Given the description of an element on the screen output the (x, y) to click on. 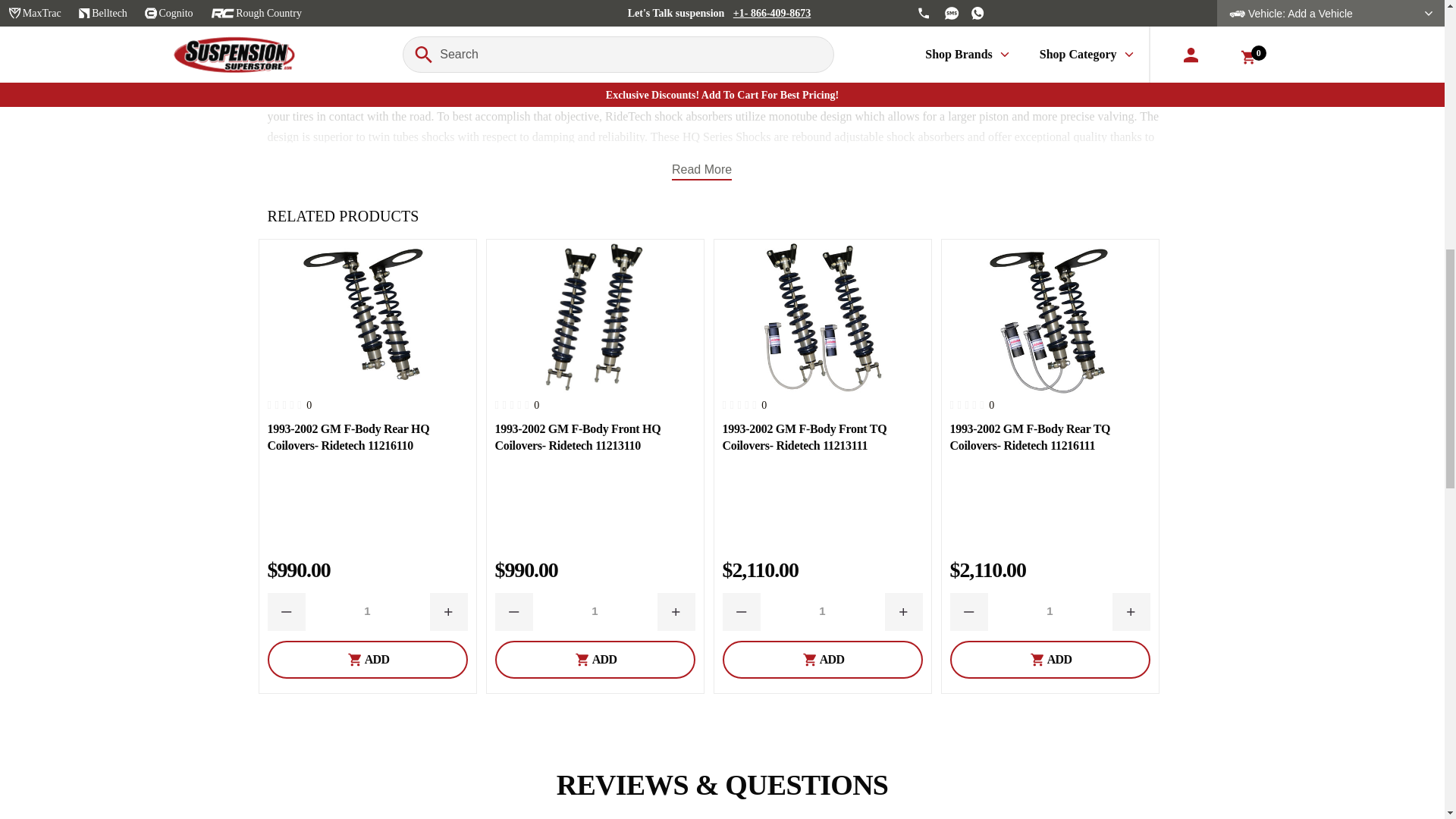
1 (822, 610)
1 (1049, 610)
1 (366, 610)
1 (594, 610)
